Given the description of an element on the screen output the (x, y) to click on. 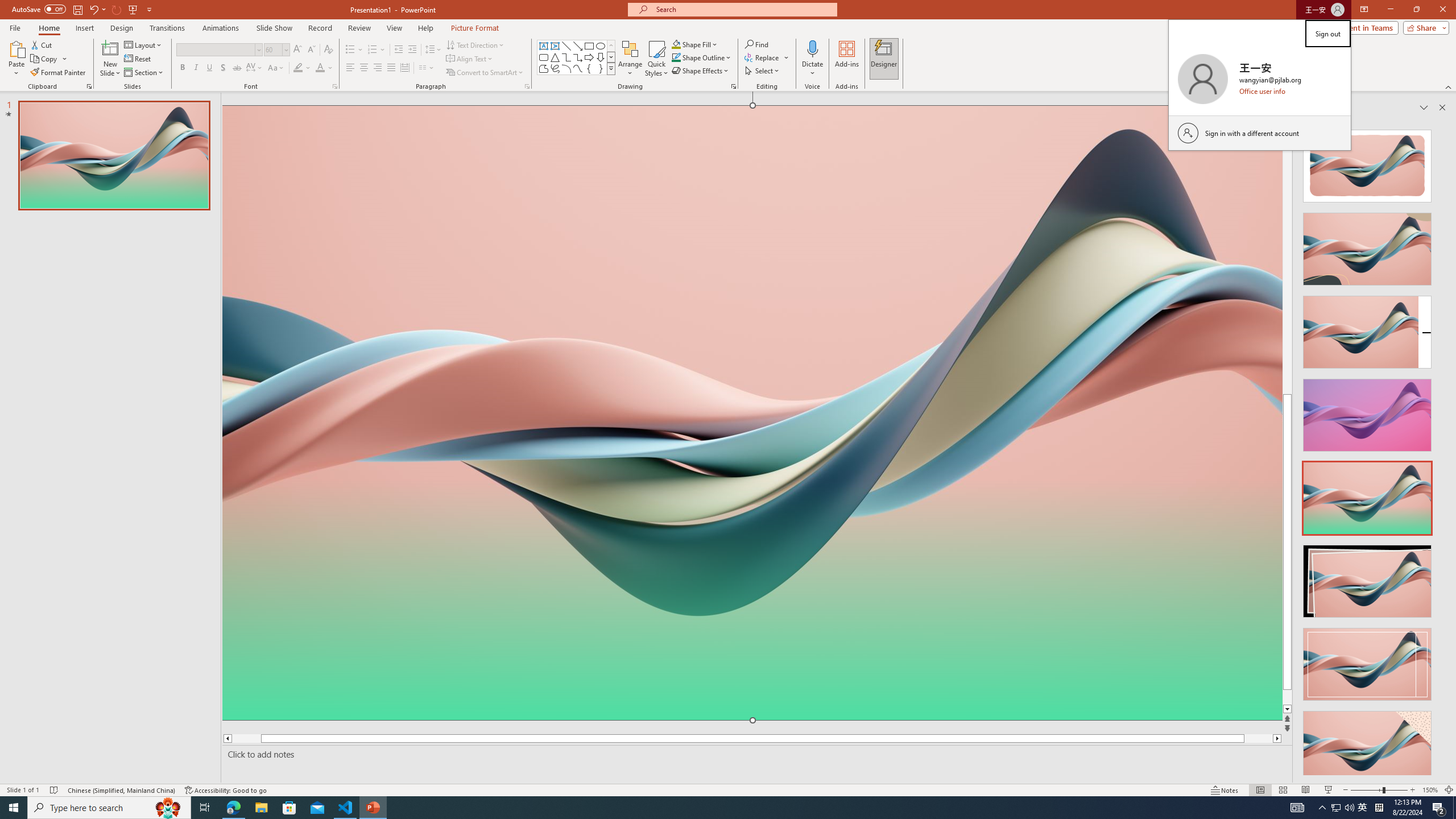
Picture Format (475, 28)
